Given the description of an element on the screen output the (x, y) to click on. 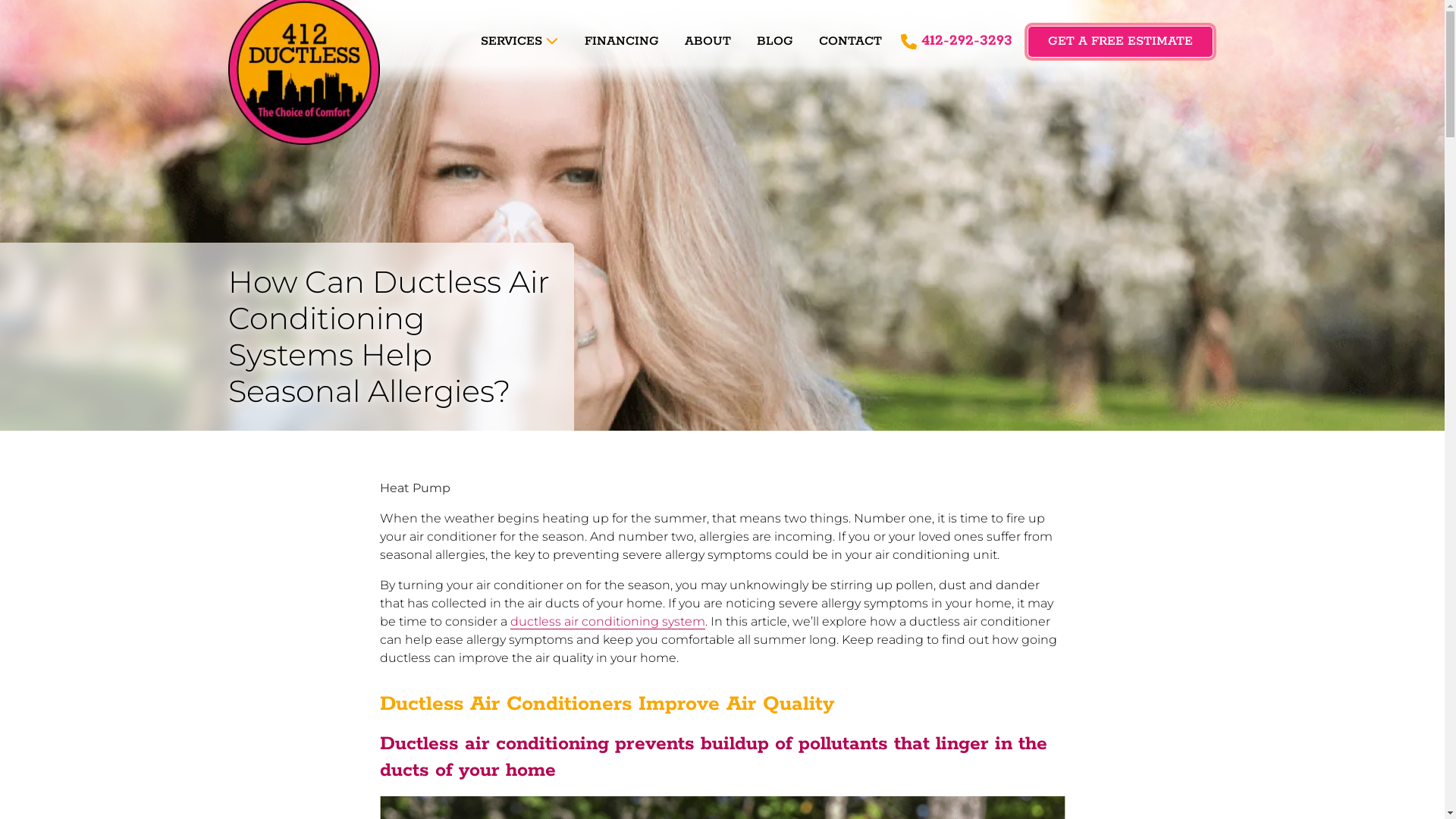
BLOG Element type: text (774, 41)
GET A FREE ESTIMATE Element type: text (1120, 41)
FINANCING Element type: text (621, 41)
SERVICES Element type: text (519, 41)
412-292-3293 Element type: text (956, 41)
Heat Pump Element type: text (414, 488)
ABOUT Element type: text (707, 41)
CONTACT Element type: text (850, 41)
ductless air conditioning system Element type: text (606, 621)
